Given the description of an element on the screen output the (x, y) to click on. 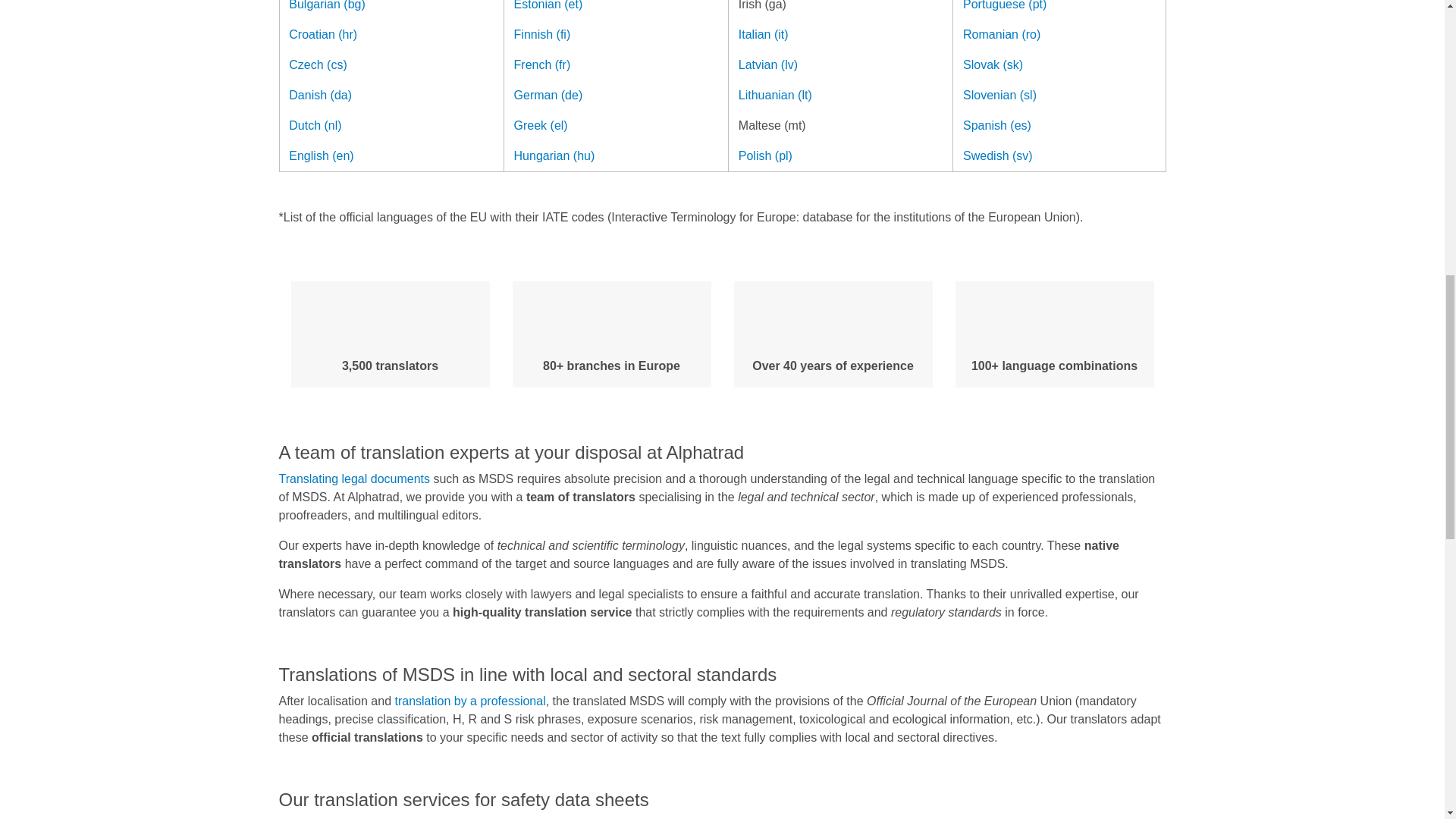
Legal Translation Services (354, 478)
Professional Translation Services (469, 700)
